Given the description of an element on the screen output the (x, y) to click on. 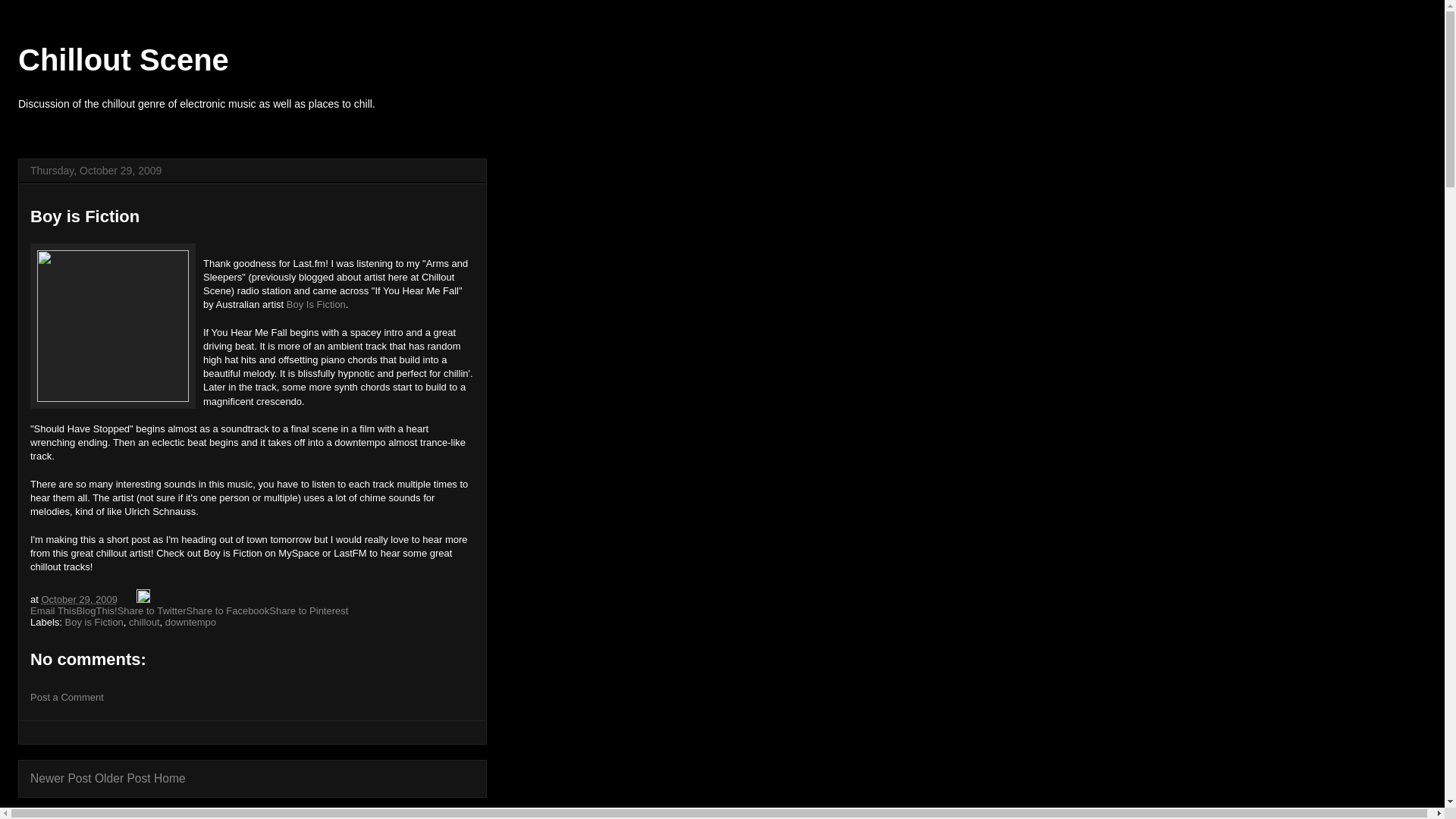
Share to Facebook (227, 610)
downtempo (190, 622)
Email This (52, 610)
Post a Comment (66, 696)
BlogThis! (95, 610)
Boy is Fiction (94, 622)
BlogThis! (95, 610)
permanent link (78, 599)
Share to Facebook (227, 610)
Share to Pinterest (308, 610)
Edit Post (142, 599)
Older Post (122, 778)
Share to Twitter (151, 610)
Email Post (128, 599)
Newer Post (60, 778)
